Given the description of an element on the screen output the (x, y) to click on. 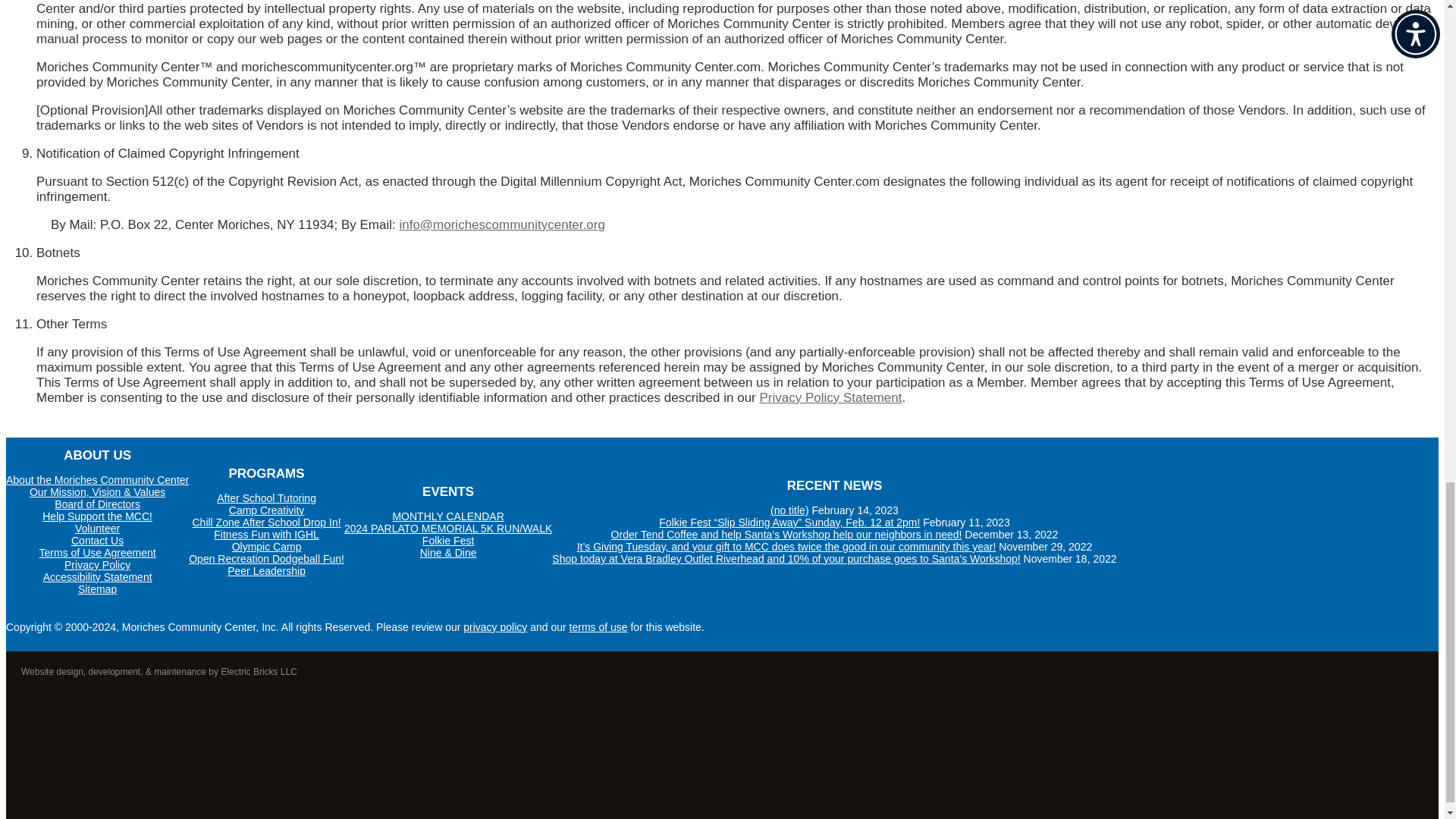
Moriches Community Center Website Privacy Statement (495, 626)
Terms of Use Agreement (598, 626)
